Given the description of an element on the screen output the (x, y) to click on. 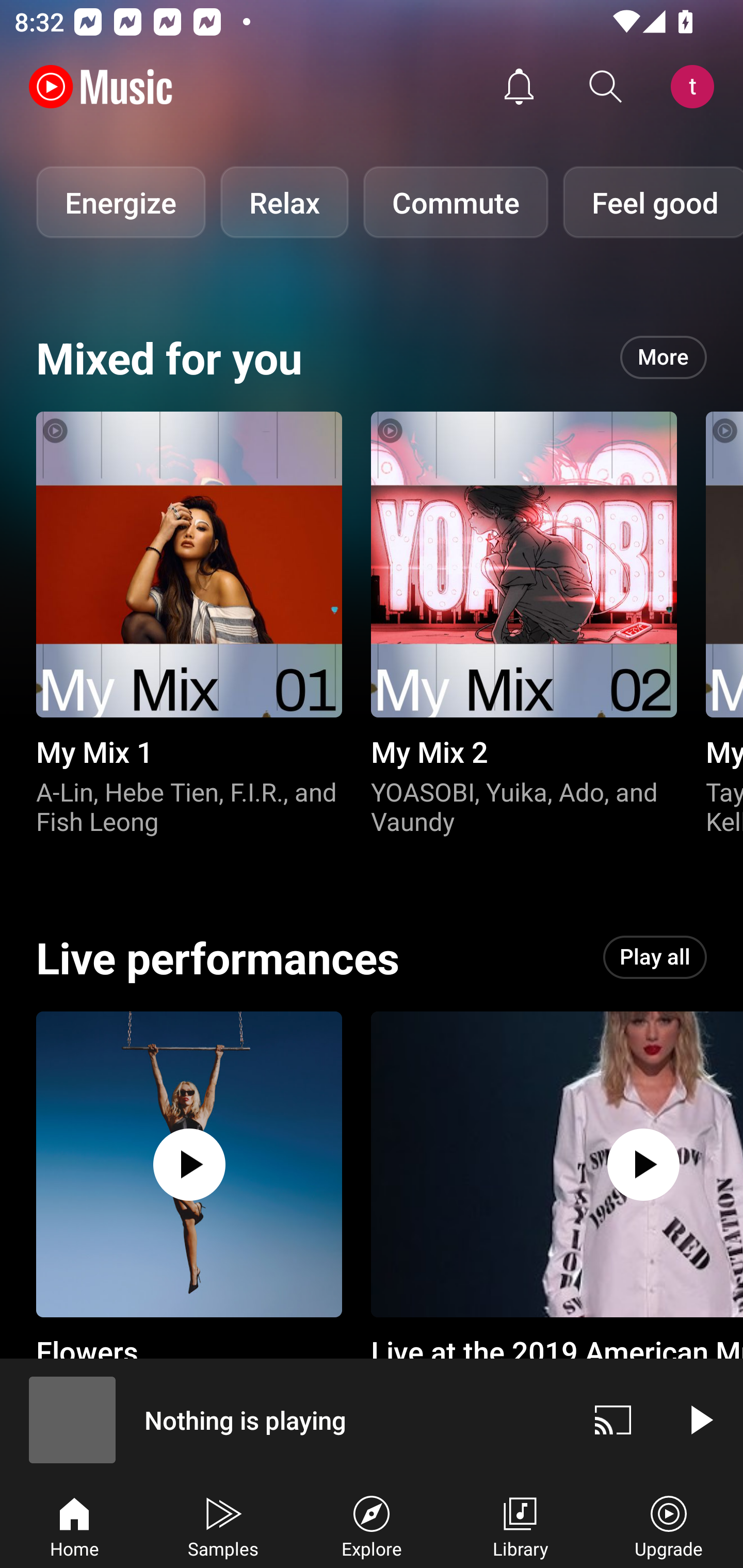
Activity feed (518, 86)
Search (605, 86)
Account (696, 86)
Cast. Disconnected (612, 1419)
Play video (699, 1419)
Home (74, 1524)
Samples (222, 1524)
Explore (371, 1524)
Library (519, 1524)
Upgrade (668, 1524)
